Given the description of an element on the screen output the (x, y) to click on. 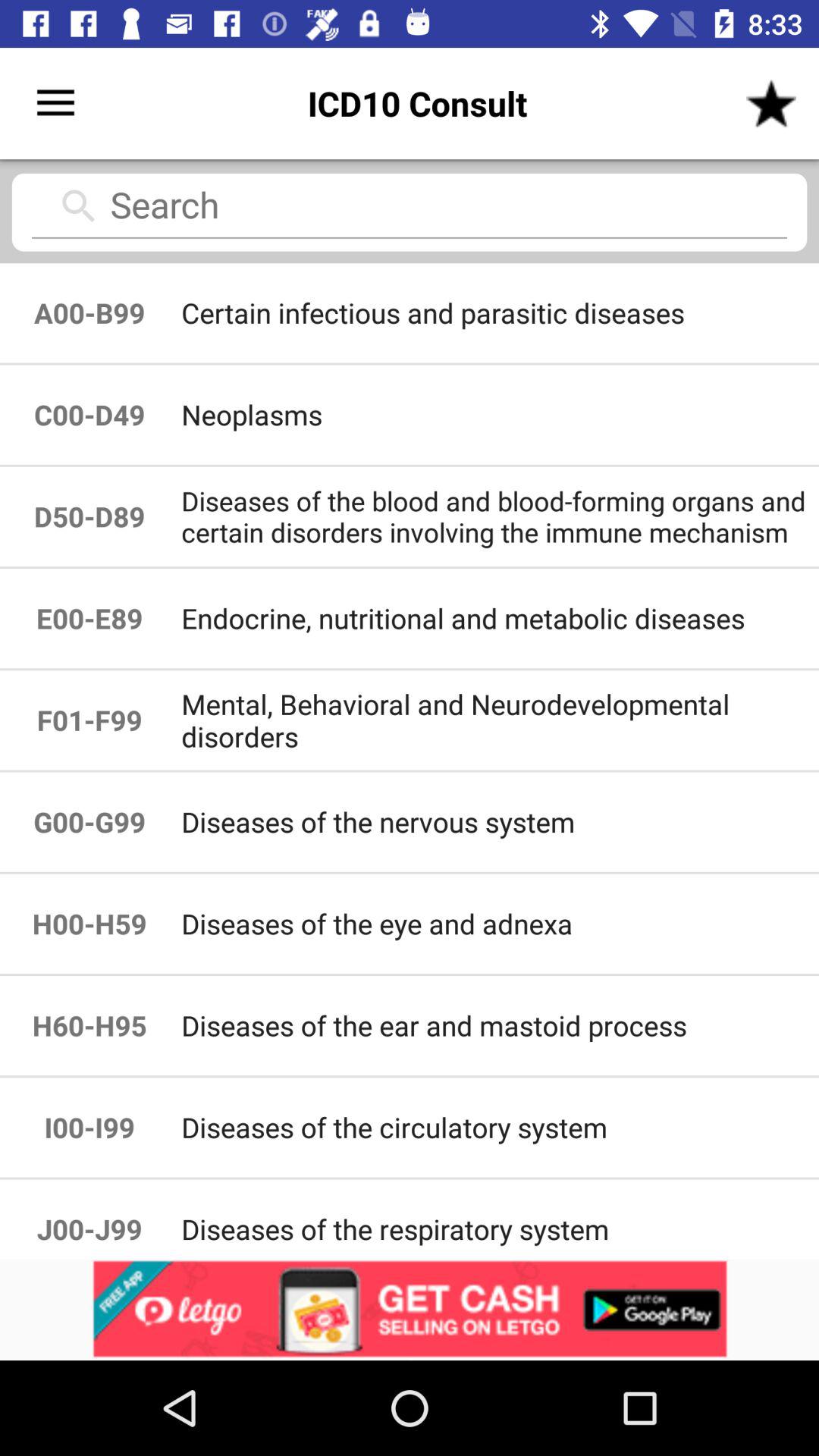
tap item to the left of diseases of the (89, 923)
